Given the description of an element on the screen output the (x, y) to click on. 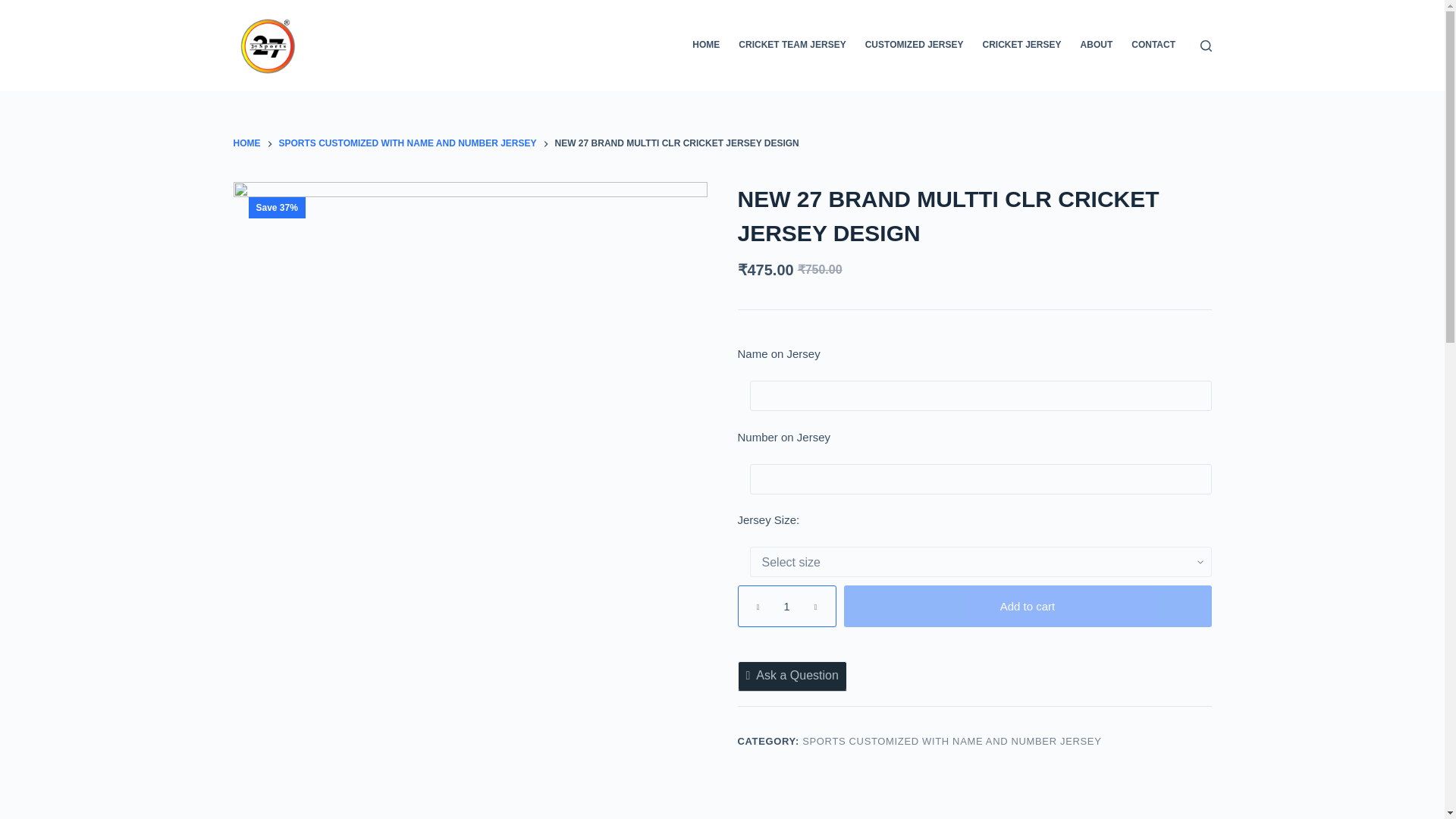
CRICKET JERSEY (1021, 45)
Add to cart (1027, 606)
CRICKET TEAM JERSEY (792, 45)
  Ask a Question (790, 675)
HOME (246, 143)
SPORTS CUSTOMIZED WITH NAME AND NUMBER JERSEY (408, 143)
CUSTOMIZED JERSEY (914, 45)
SPORTS CUSTOMIZED WITH NAME AND NUMBER JERSEY (951, 740)
Skip to content (15, 7)
1 (785, 606)
